Given the description of an element on the screen output the (x, y) to click on. 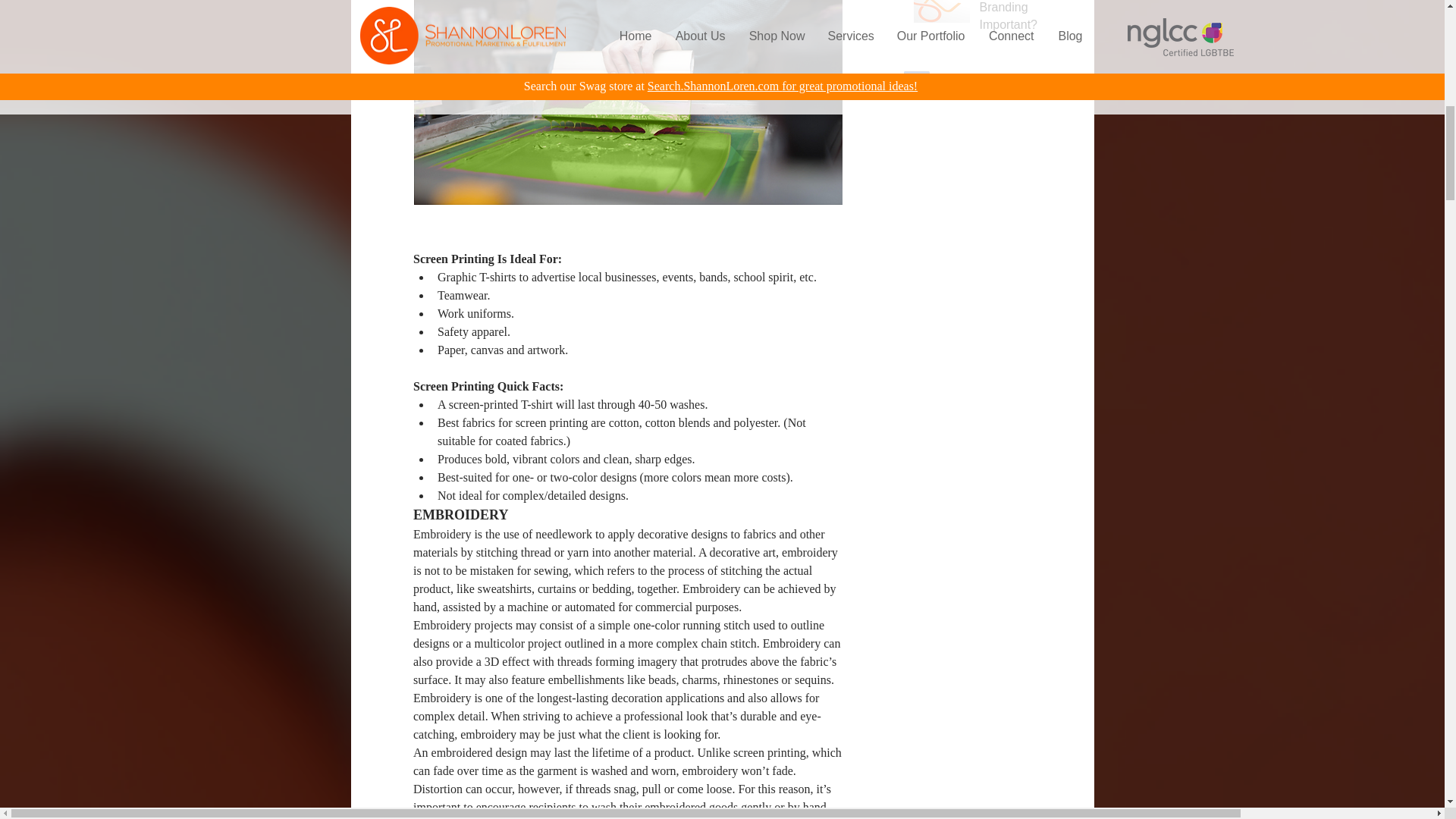
Why is Branding Important? (1020, 19)
